Given the description of an element on the screen output the (x, y) to click on. 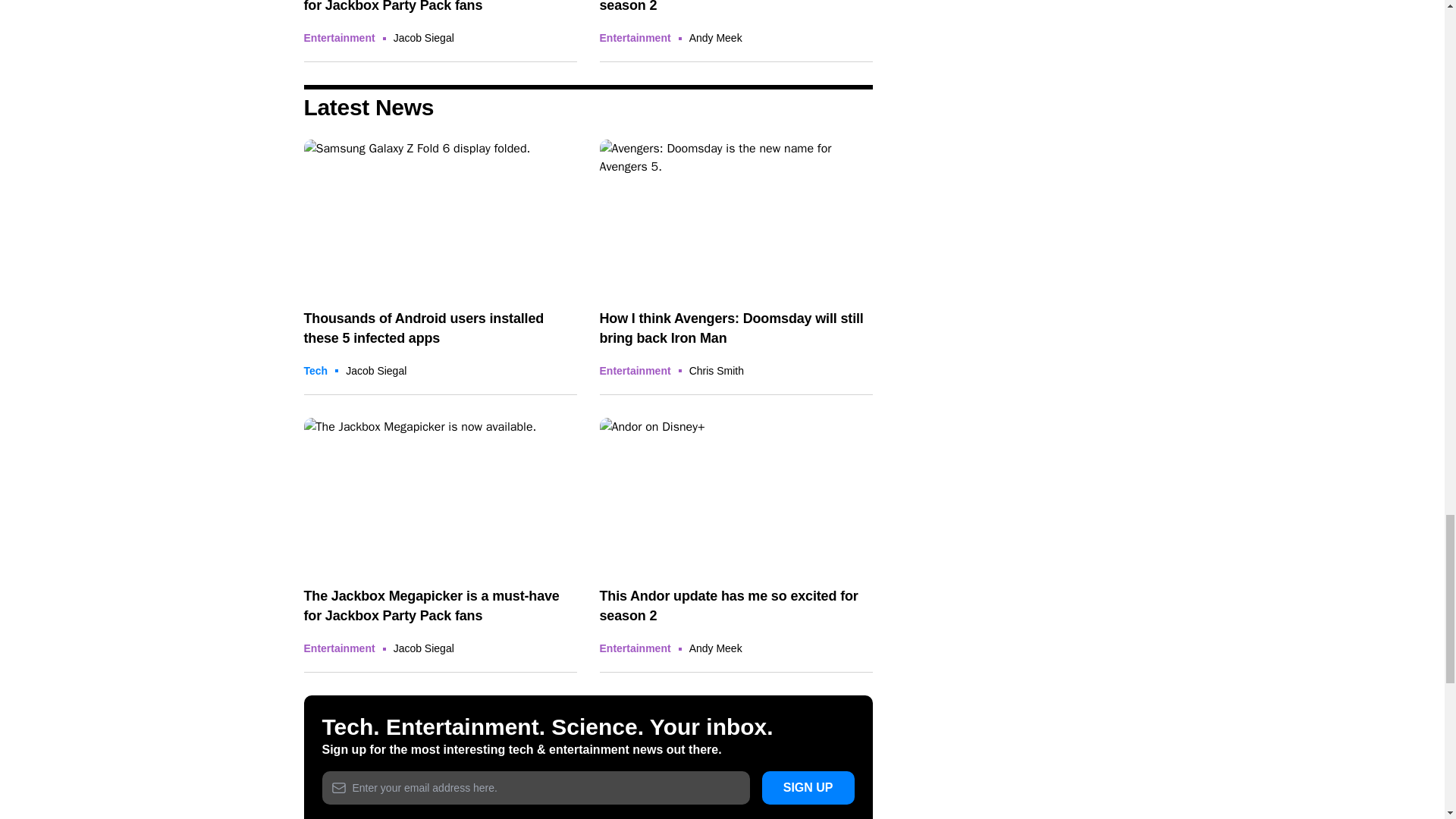
Android apps (439, 216)
Posts by Andy Meek (715, 37)
Posts by Jacob Siegal (423, 37)
Posts by Andy Meek (715, 648)
Avengers: Doomsday (735, 216)
Posts by Jacob Siegal (376, 370)
Posts by Jacob Siegal (423, 648)
Posts by Chris Smith (716, 370)
Andor (735, 494)
Jackbox Megapicker (439, 494)
